Given the description of an element on the screen output the (x, y) to click on. 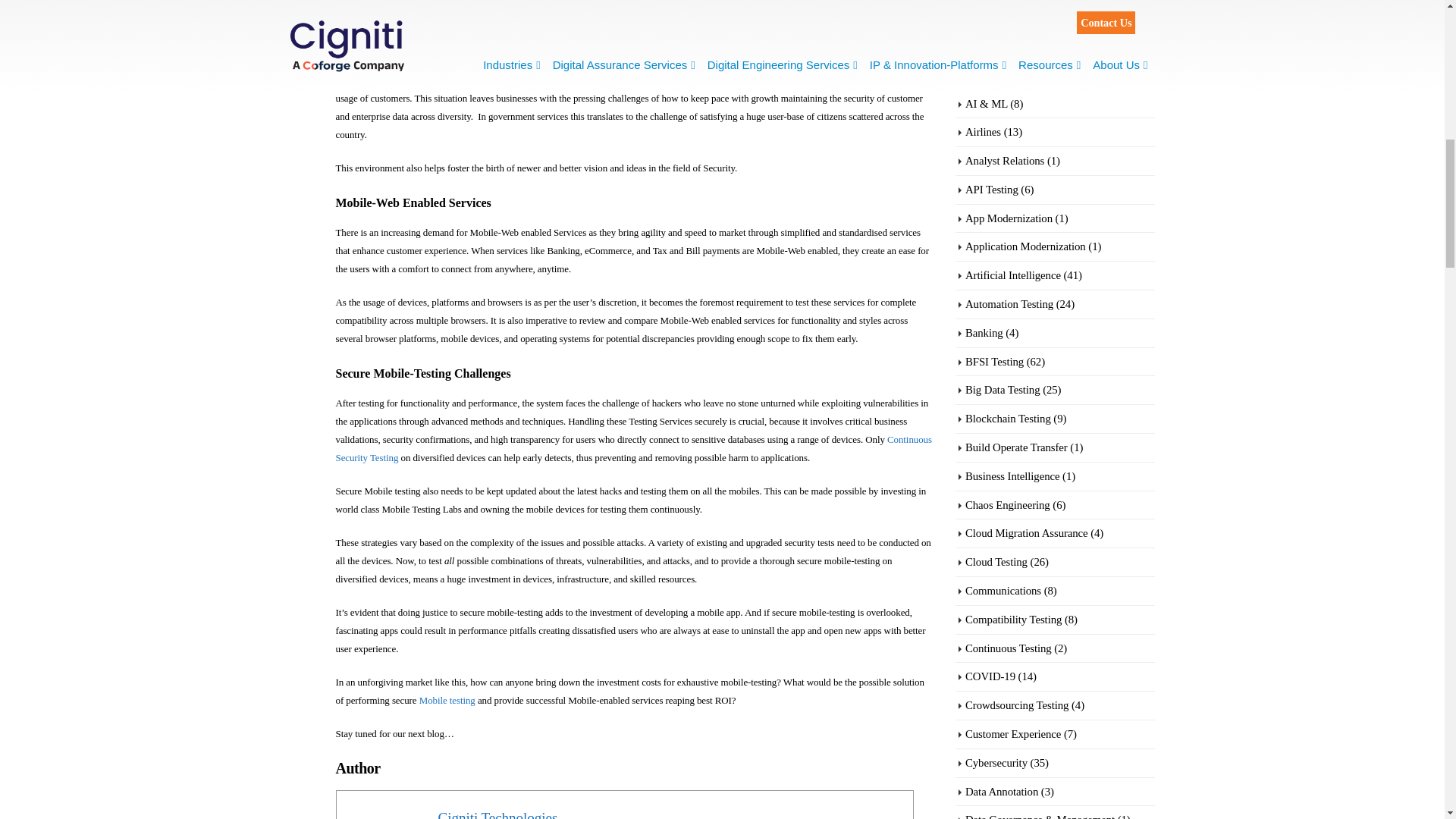
Cigniti Technologies (497, 814)
